Given the description of an element on the screen output the (x, y) to click on. 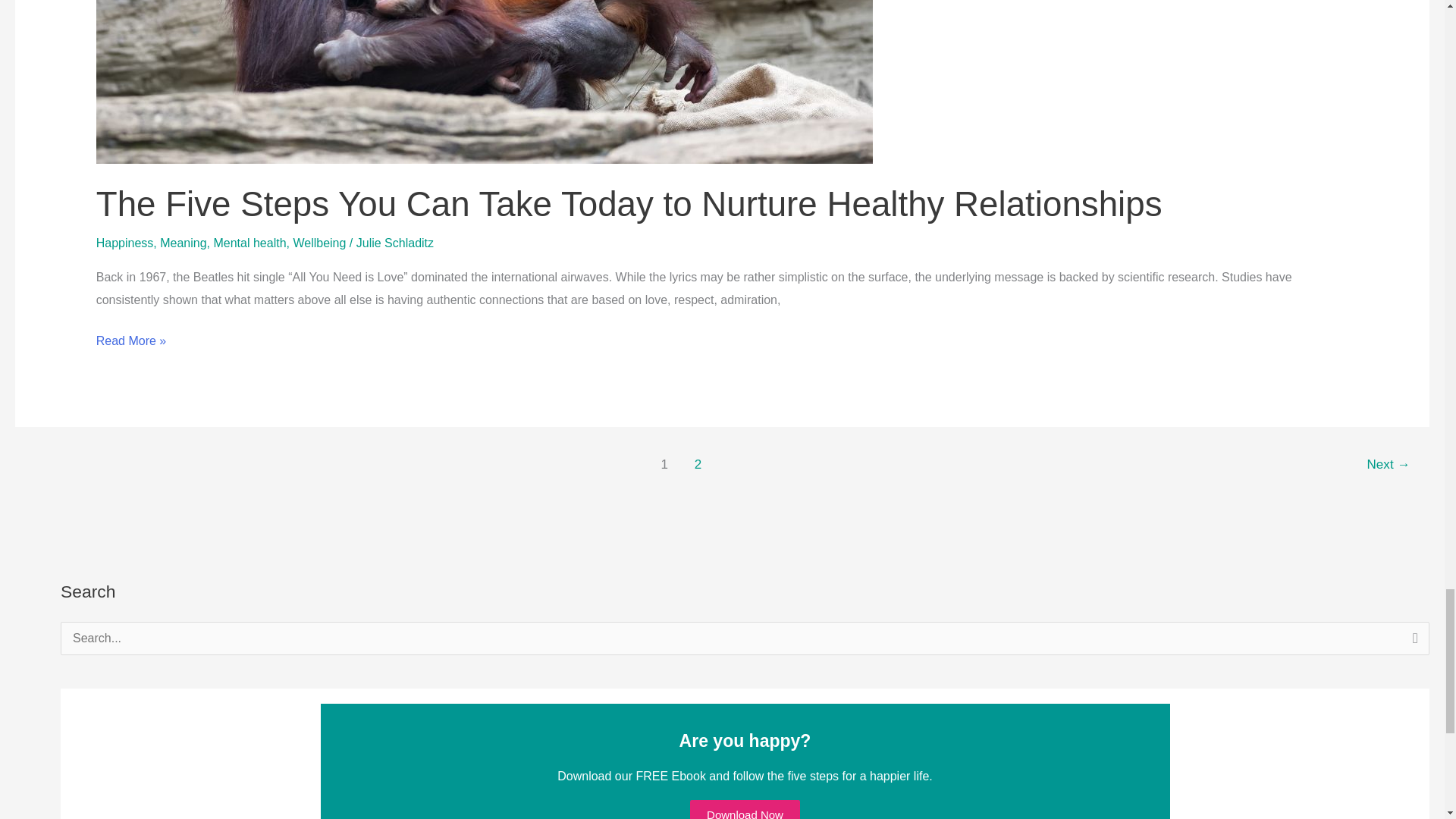
View all posts by Julie Schladitz (394, 242)
